Given the description of an element on the screen output the (x, y) to click on. 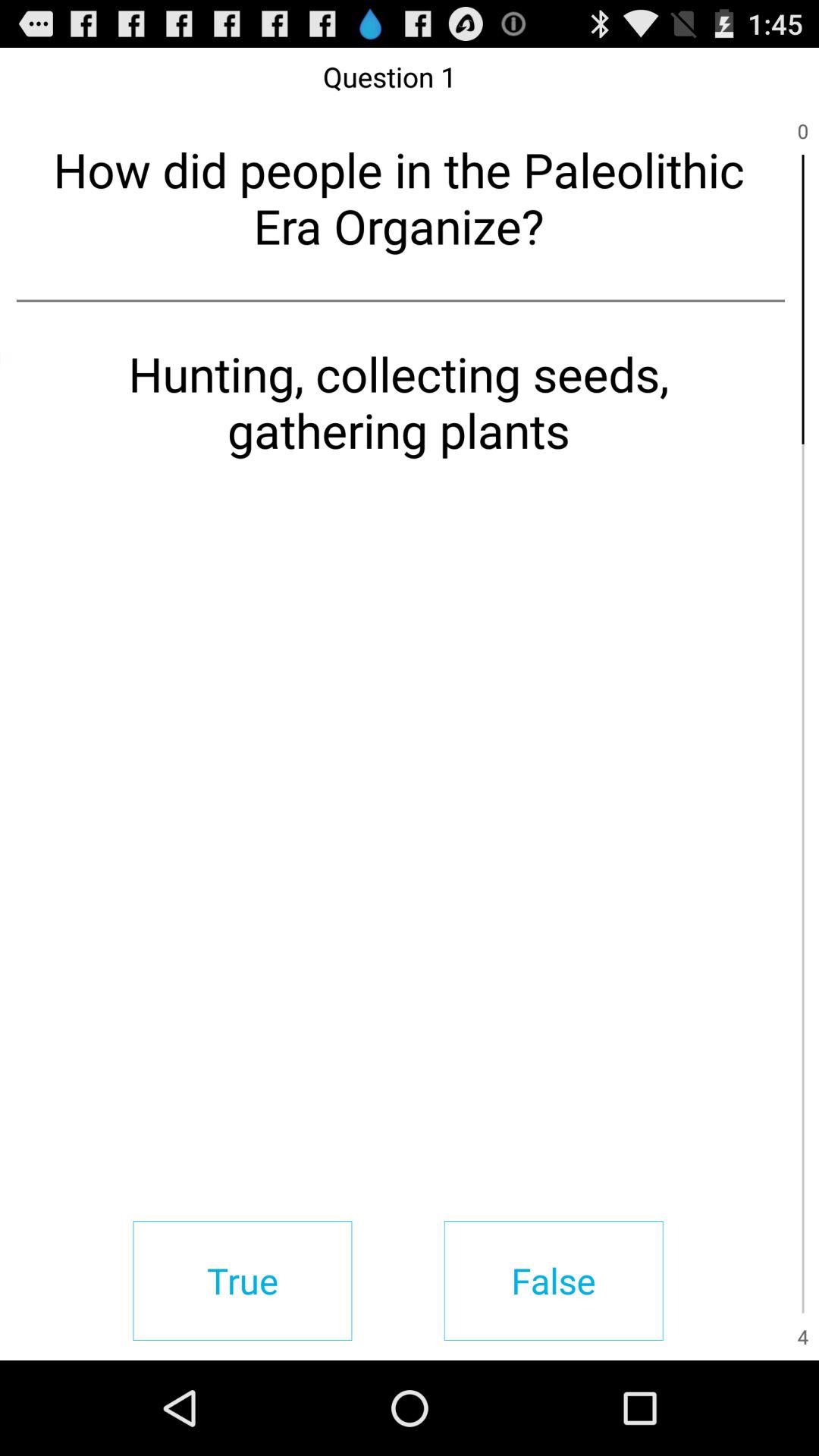
click item next to the how did people item (802, 299)
